Given the description of an element on the screen output the (x, y) to click on. 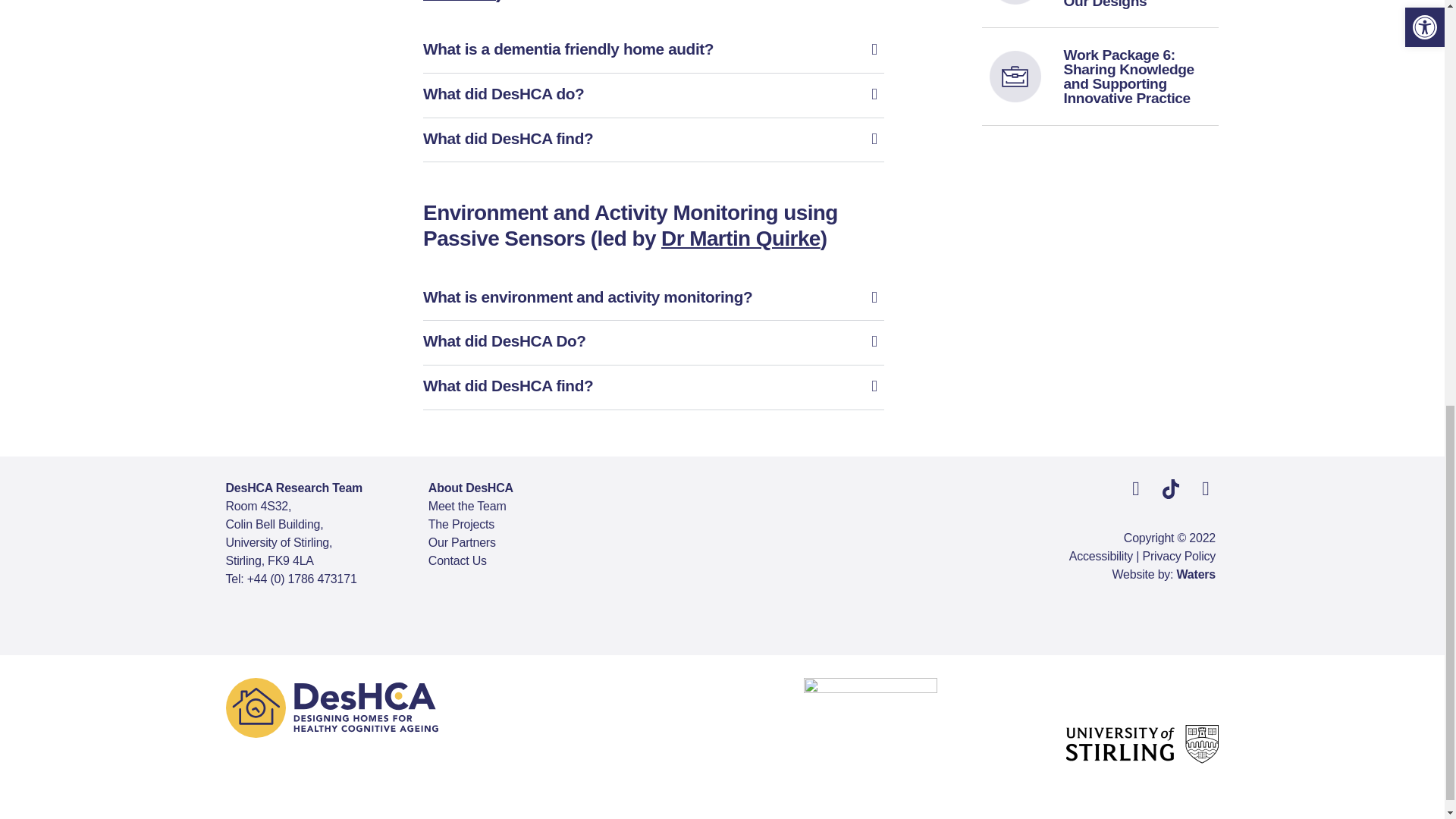
UK Research and Innovation (870, 744)
University of Stirling (1141, 743)
